Given the description of an element on the screen output the (x, y) to click on. 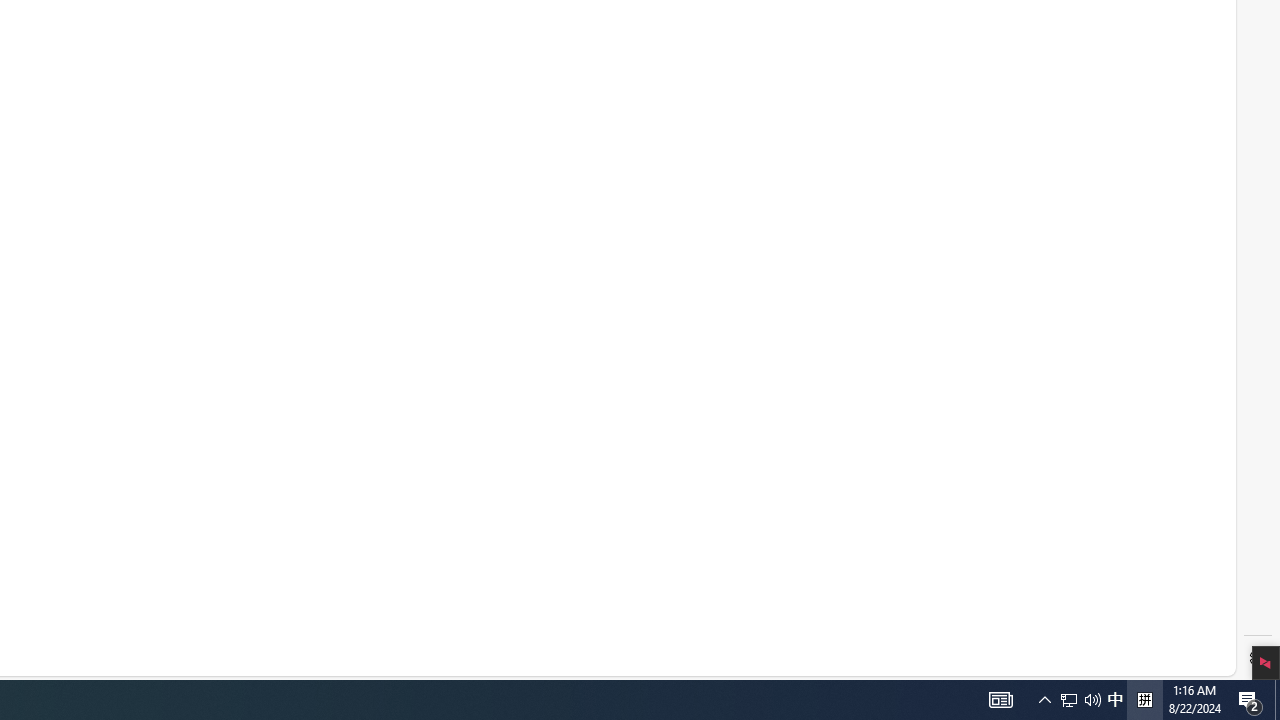
Settings (1258, 658)
